Given the description of an element on the screen output the (x, y) to click on. 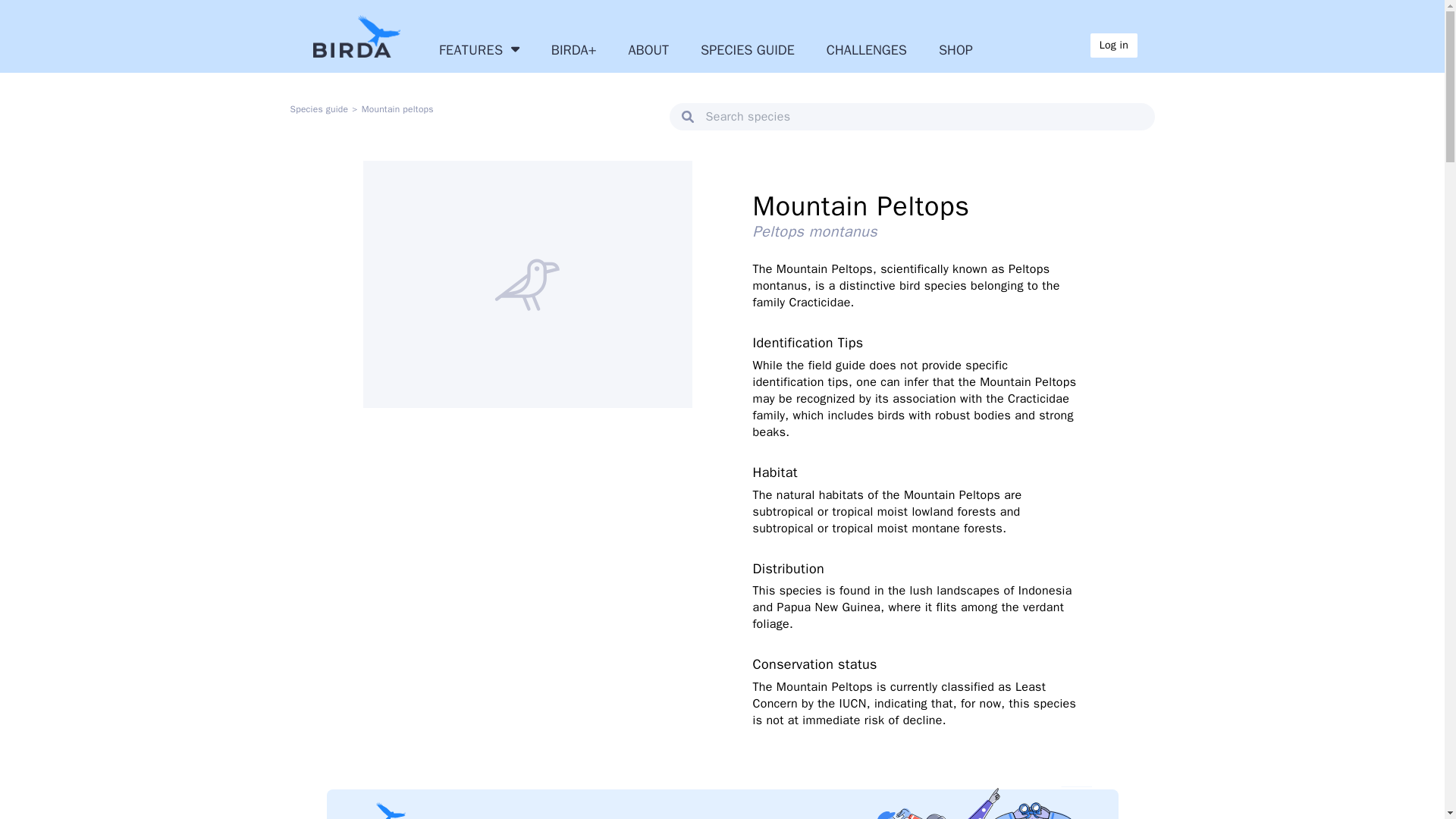
Mountain peltops (397, 109)
Species guide (318, 109)
SPECIES GUIDE (747, 49)
CHALLENGES (867, 49)
SHOP (955, 49)
Log in (1113, 45)
ABOUT (647, 49)
FEATURES (479, 49)
